Given the description of an element on the screen output the (x, y) to click on. 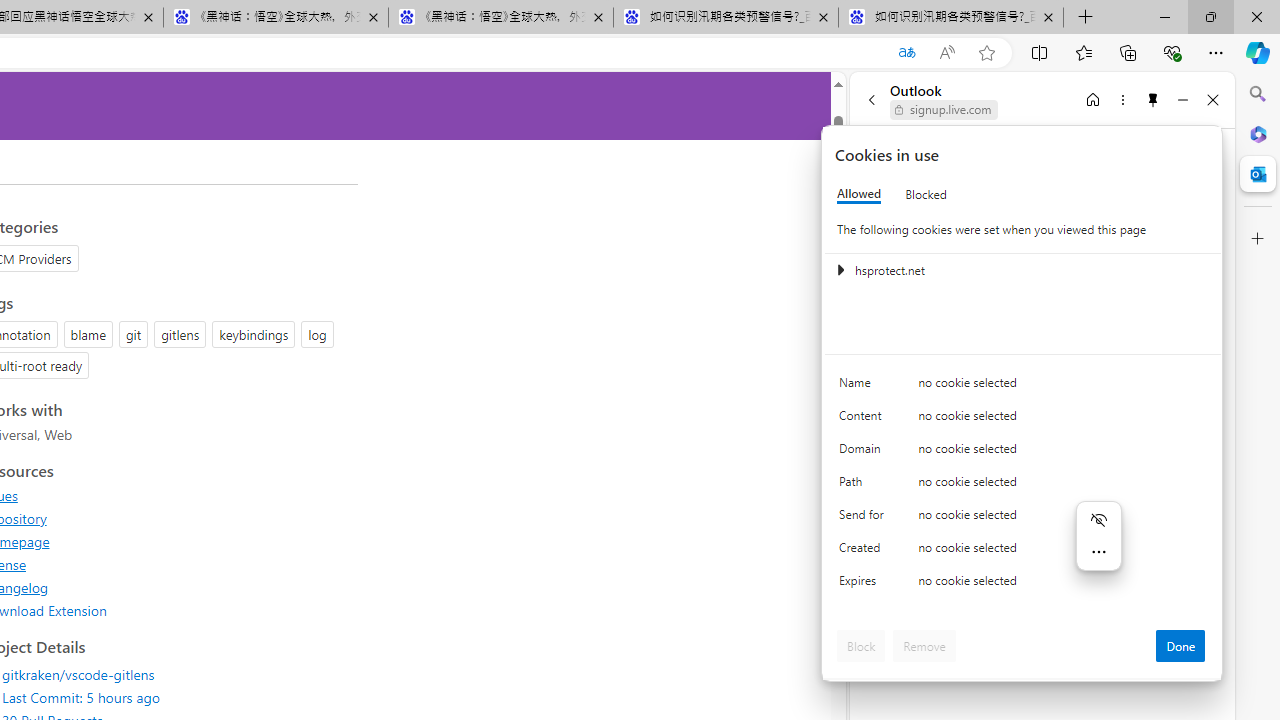
Allowed (859, 193)
Name (864, 387)
Class: c0153 c0157 (1023, 584)
Created (864, 552)
More actions (1098, 551)
Remove (924, 645)
Domain (864, 452)
Send for (864, 518)
Path (864, 485)
no cookie selected (1062, 585)
Block (861, 645)
Mini menu on text selection (1098, 535)
Content (864, 420)
Class: c0153 c0157 c0154 (1023, 386)
Blocked (925, 193)
